Given the description of an element on the screen output the (x, y) to click on. 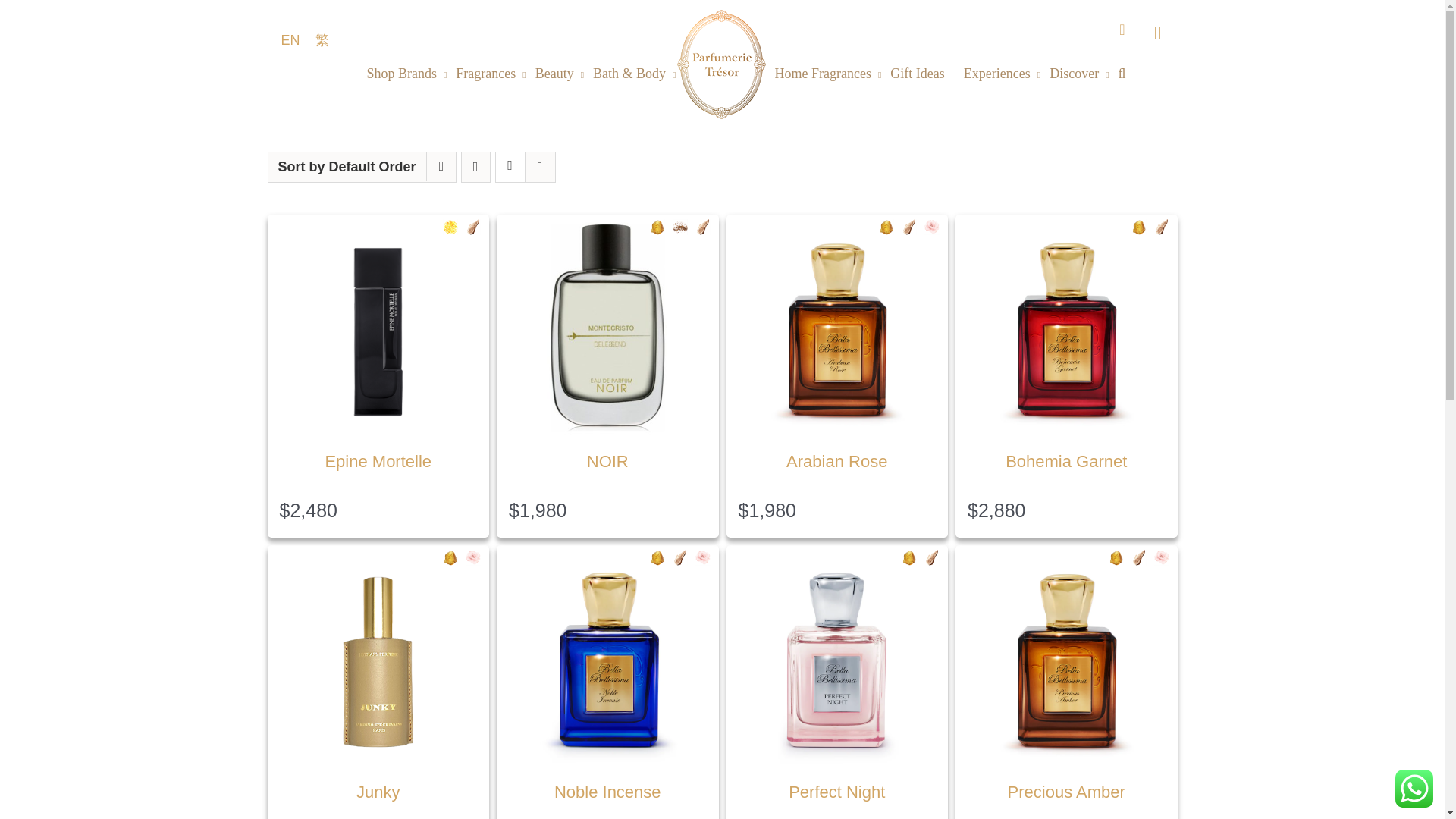
Shop Brands (406, 73)
EN (290, 39)
